Given the description of an element on the screen output the (x, y) to click on. 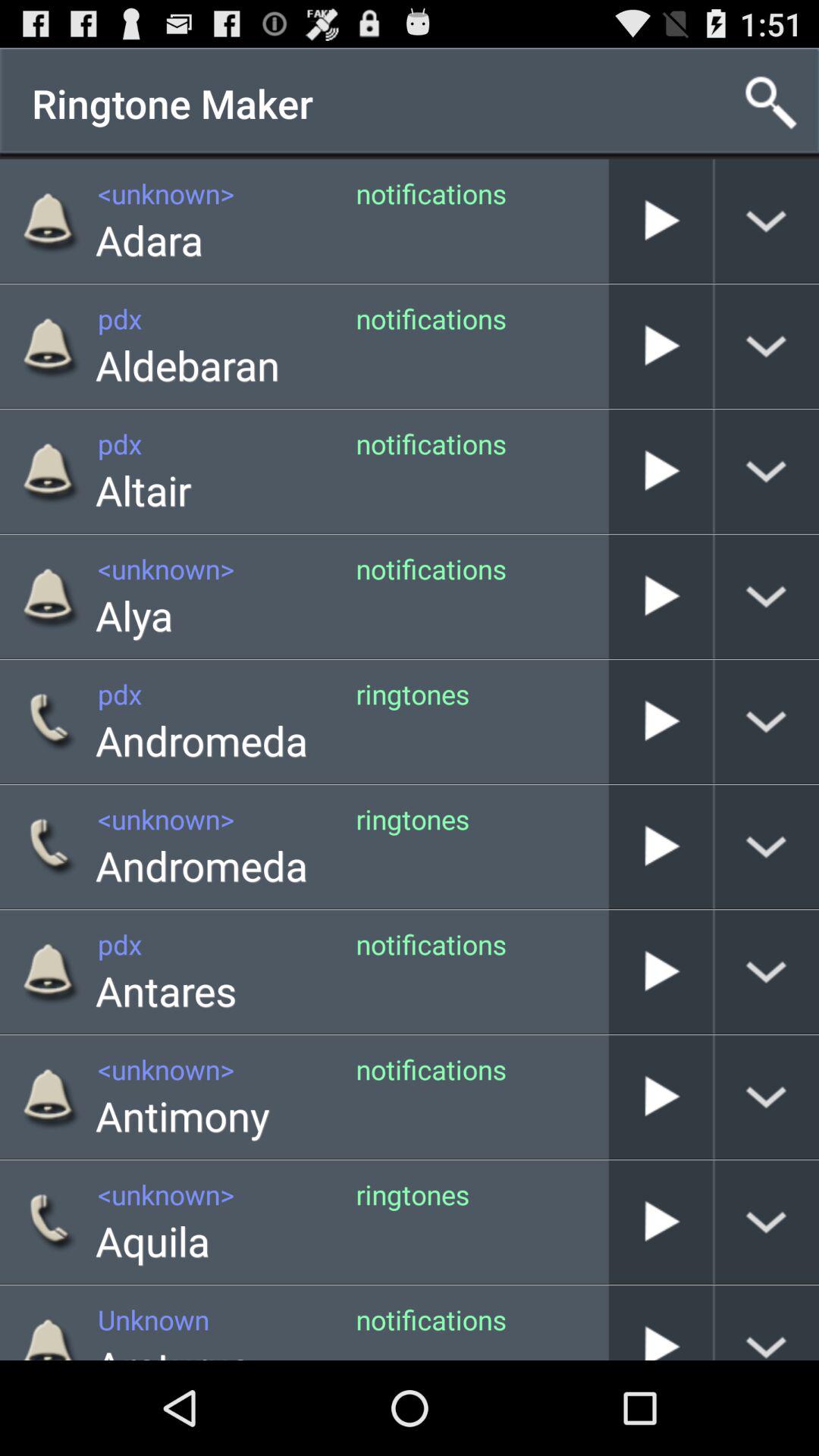
toggle down/ more options (767, 971)
